Given the description of an element on the screen output the (x, y) to click on. 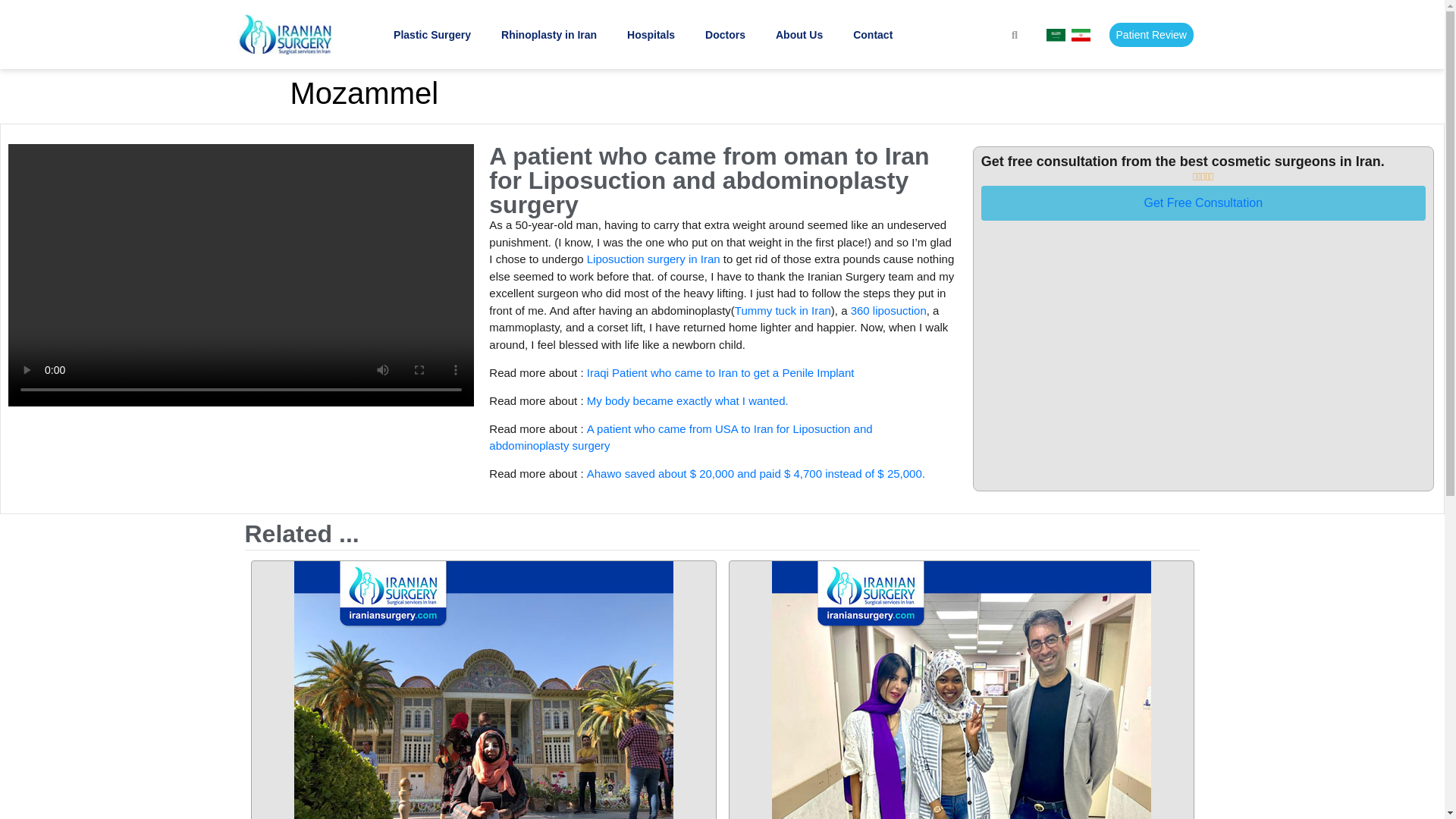
Contact (872, 34)
Doctors (724, 34)
Patient Review (1151, 34)
Hospitals (651, 34)
Rhinoplasty in Iran (548, 34)
About Us (799, 34)
Plastic Surgery (431, 34)
